Given the description of an element on the screen output the (x, y) to click on. 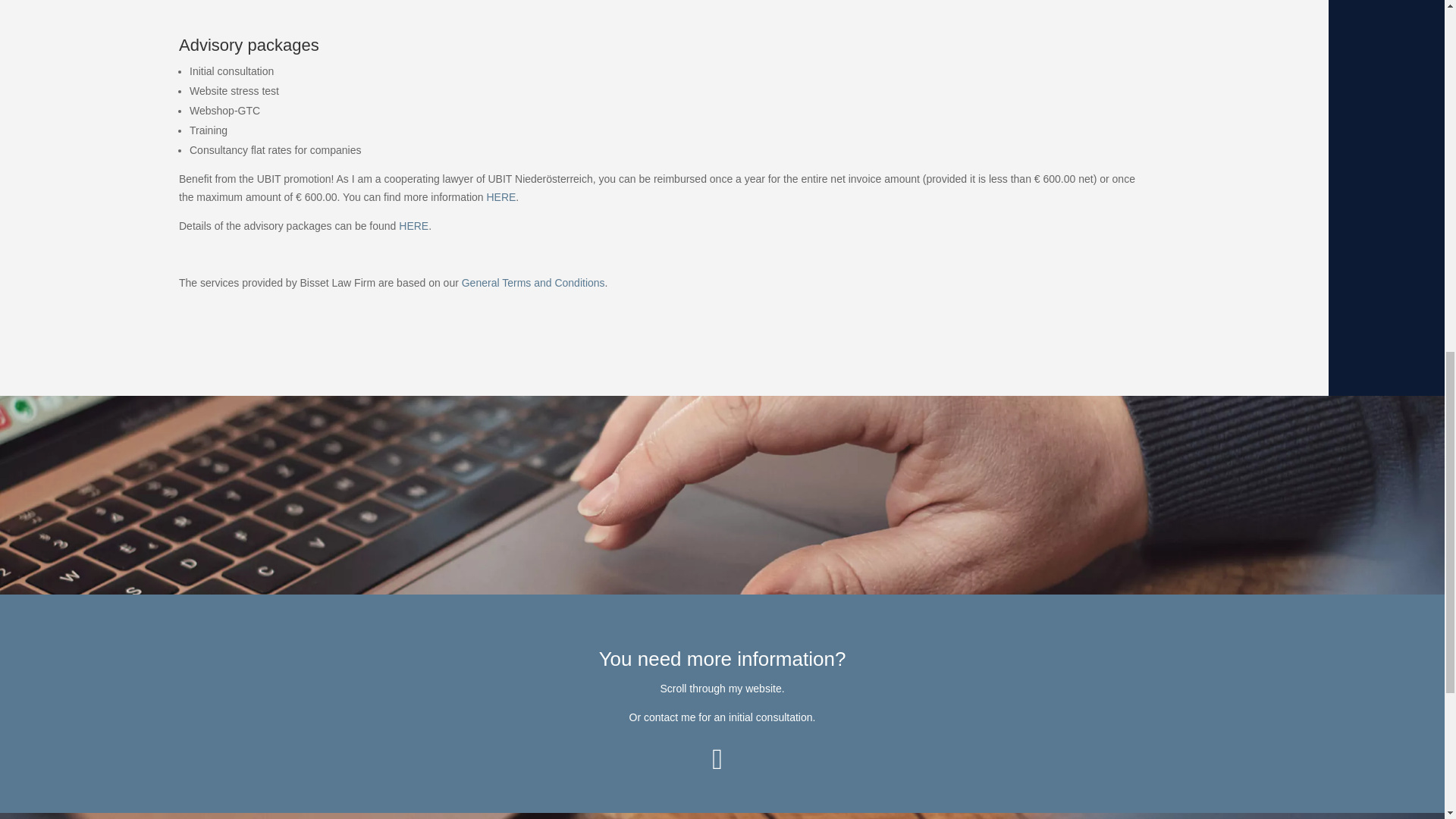
General Terms and Conditions (533, 282)
HERE (413, 225)
HERE (500, 196)
